Given the description of an element on the screen output the (x, y) to click on. 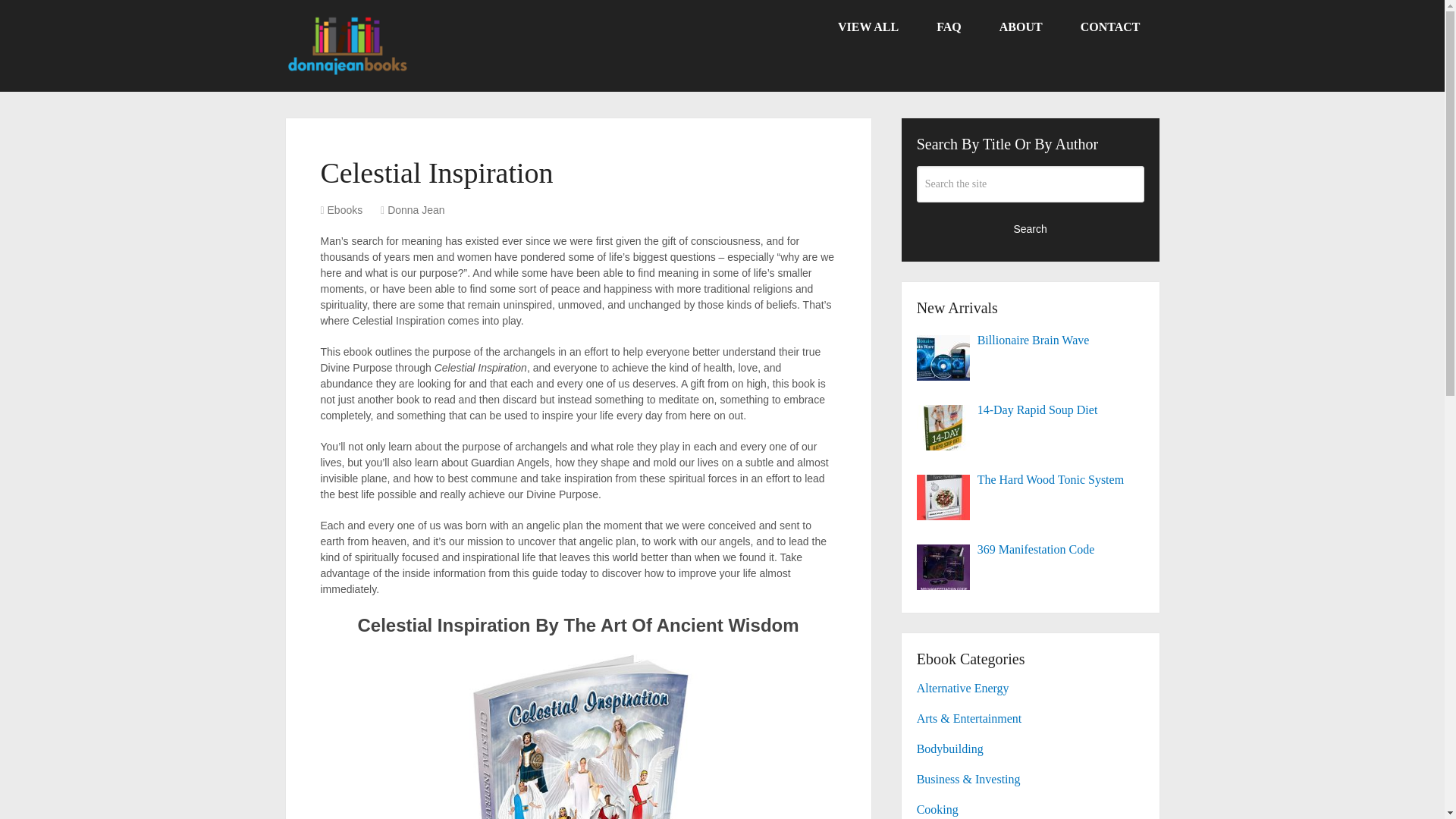
The Hard Wood Tonic System (1030, 479)
Cooking (937, 809)
Bodybuilding (950, 748)
Donna Jean (416, 209)
369 Manifestation Code (1030, 549)
Billionaire Brain Wave (1030, 340)
ABOUT (1020, 27)
Frequently Asked Questions (948, 27)
About Donna Jean Books (1020, 27)
FAQ (948, 27)
VIEW ALL (867, 27)
View all posts in Ebooks (344, 209)
Contact Us (1109, 27)
Browse All Ebooks (867, 27)
Search (1030, 227)
